Given the description of an element on the screen output the (x, y) to click on. 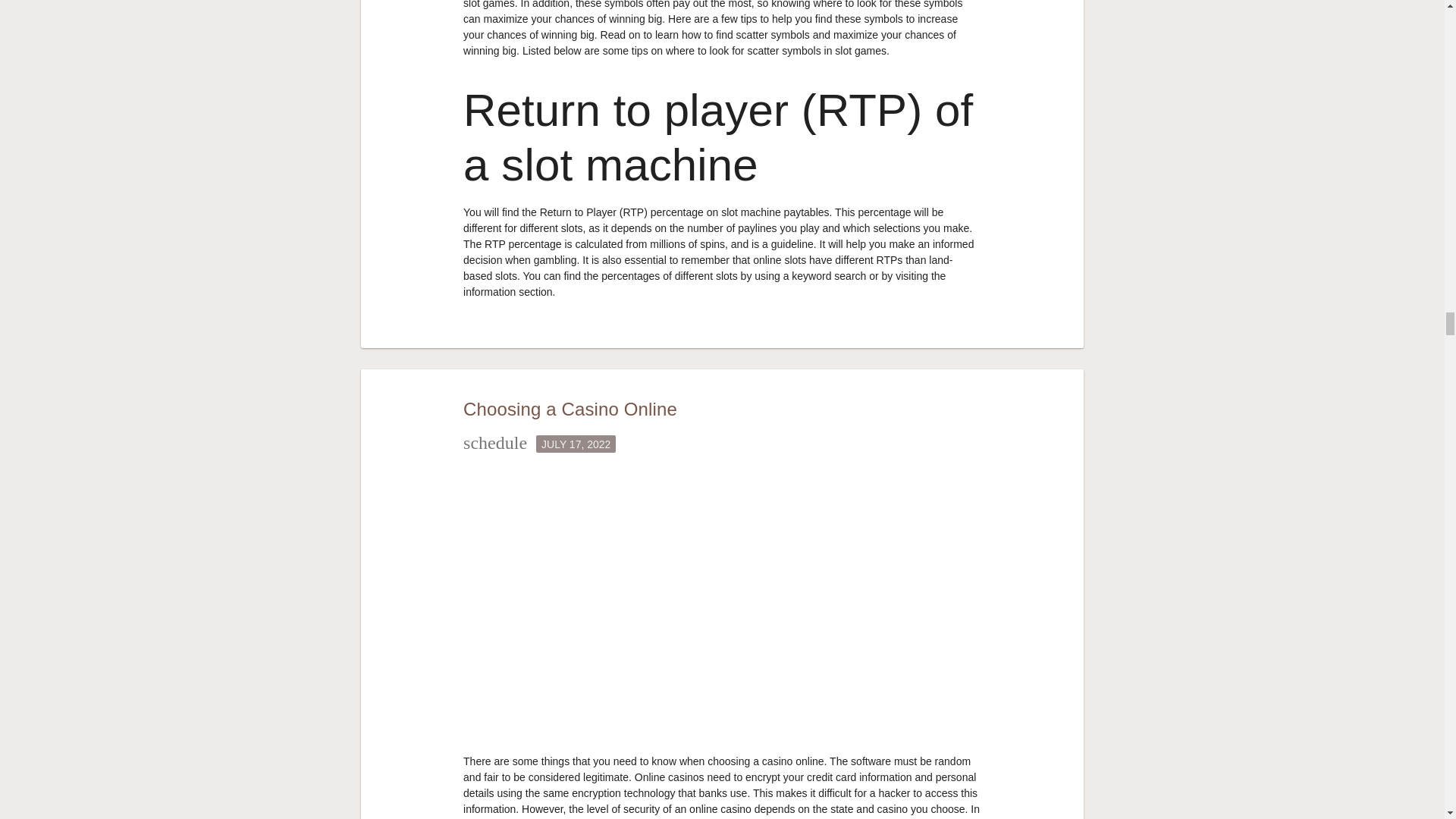
JULY 17, 2022 (575, 443)
Choosing a Casino Online (570, 408)
